Given the description of an element on the screen output the (x, y) to click on. 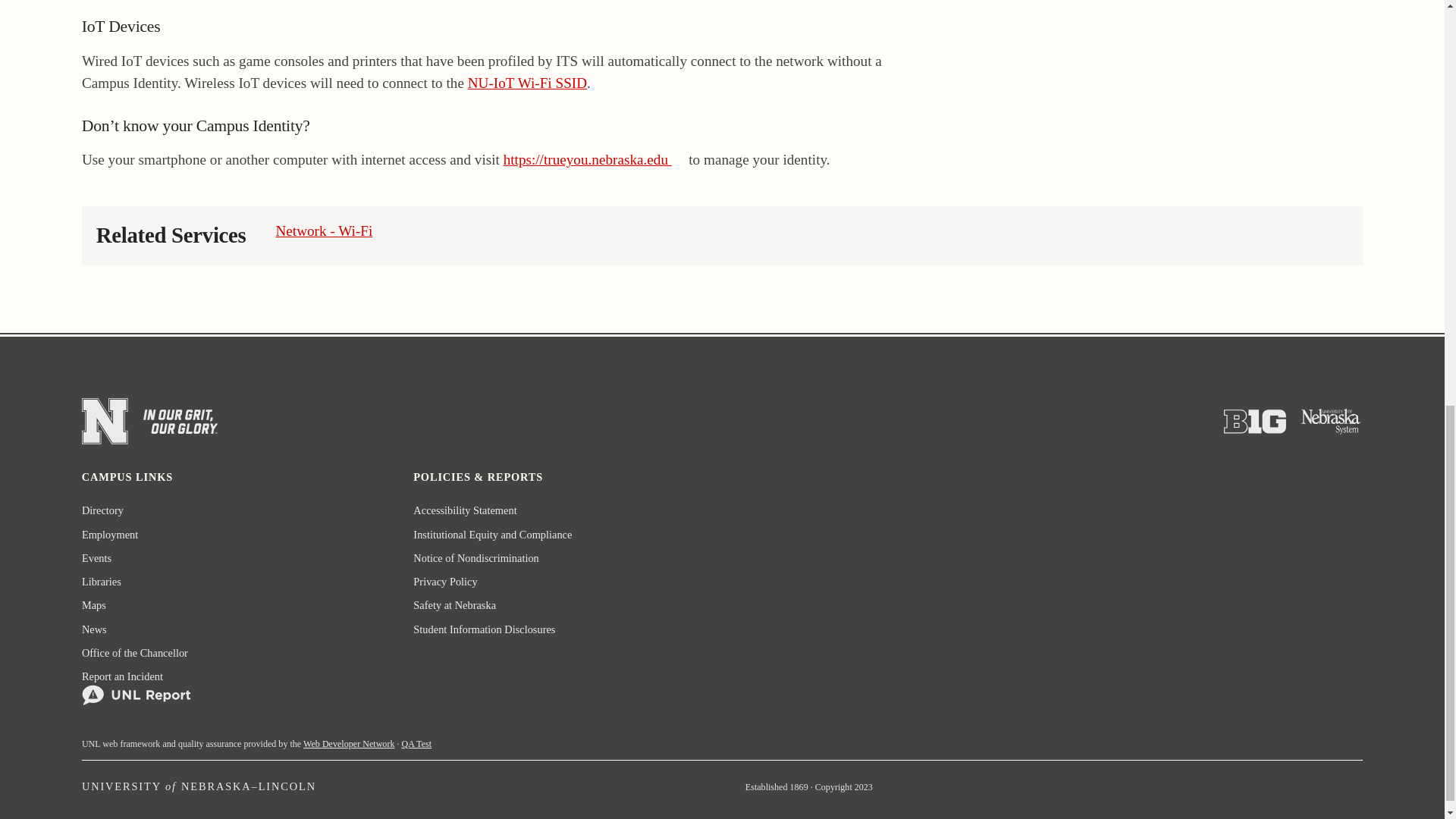
NU-IoT Wi-Fi SSID (526, 82)
Notice of Nondiscrimination (475, 558)
Maps (93, 605)
Institutional Equity and Compliance (492, 535)
Libraries (100, 581)
Student Information Disclosures (483, 629)
Safety at Nebraska (454, 605)
Employment (109, 535)
Network - Wi-Fi (323, 230)
Report an Incident (135, 688)
Events (96, 558)
Accessibility Statement (464, 510)
Privacy Policy (445, 581)
Directory (102, 510)
News (93, 629)
